Given the description of an element on the screen output the (x, y) to click on. 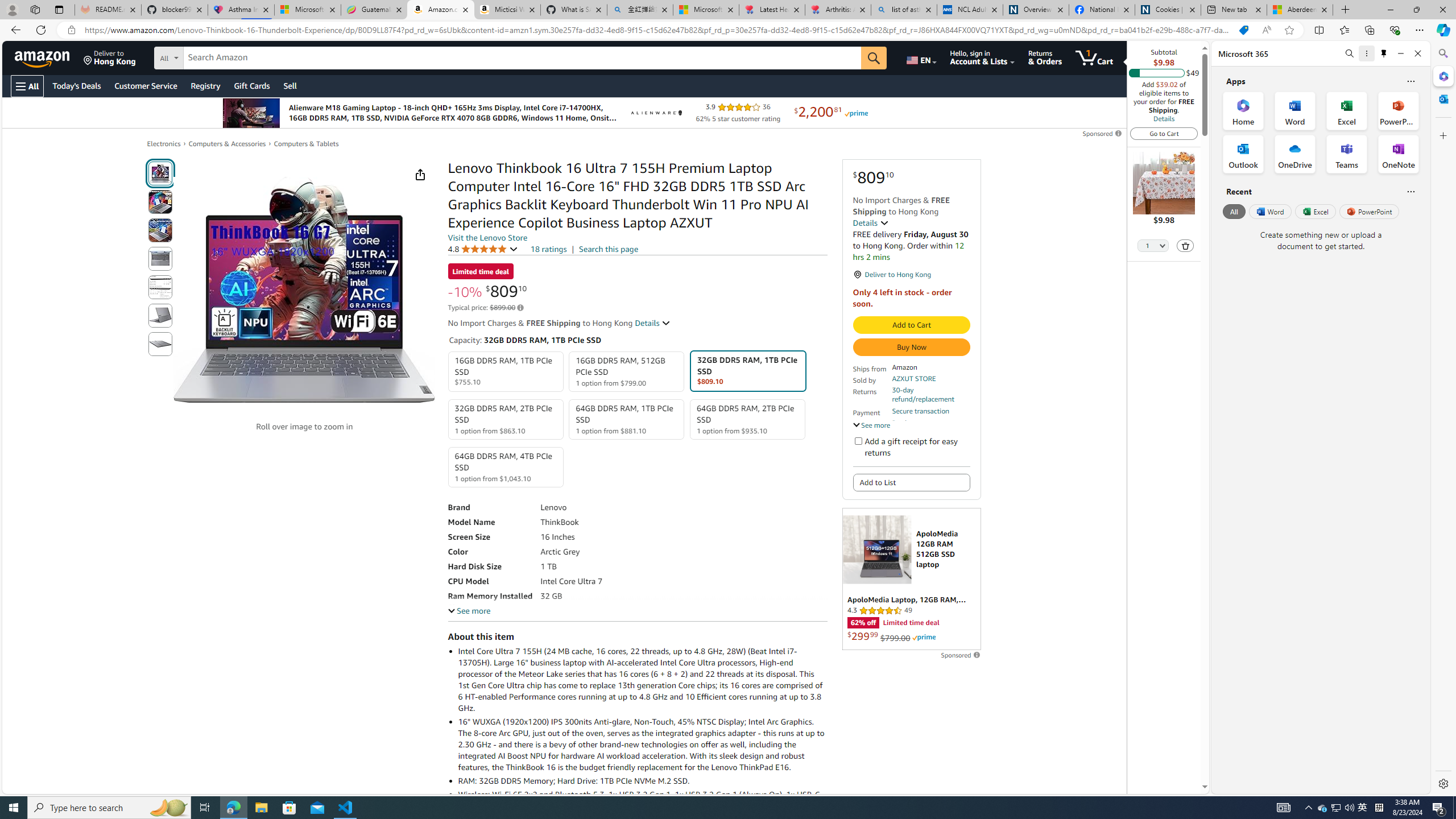
32GB DDR5 RAM, 2TB PCIe SSD 1 option from $863.10 (505, 418)
Computers & Accessories (226, 144)
PowerPoint (1369, 210)
Add a gift receipt for easy returns (857, 440)
Go (873, 57)
Sponsored ad (911, 578)
Delete (1185, 245)
Outlook Office App (1243, 154)
Add to Cart (911, 324)
32GB DDR5 RAM, 1TB PCIe SSD $809.10 (747, 370)
Electronics (163, 143)
